Given the description of an element on the screen output the (x, y) to click on. 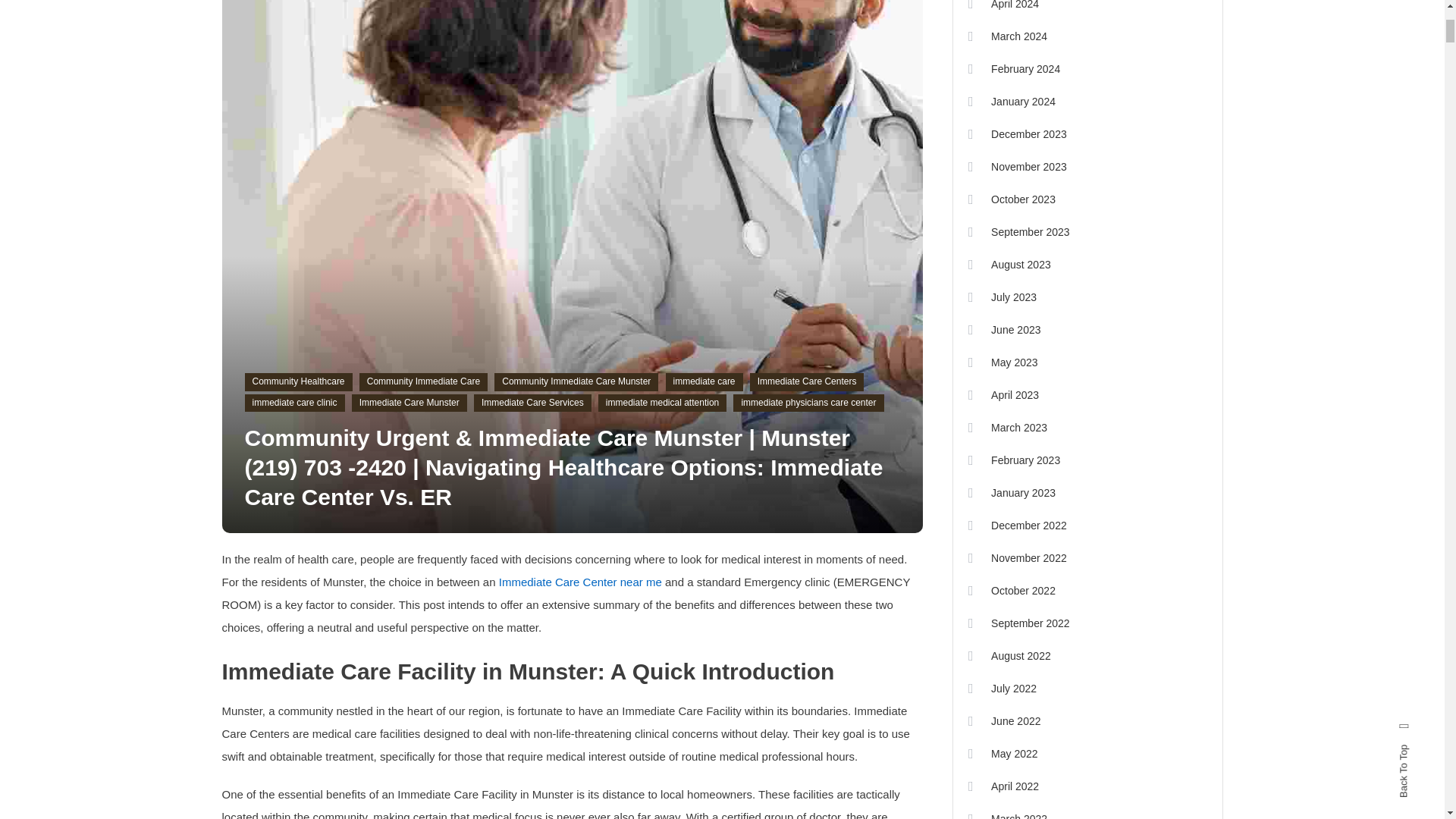
Community Immediate Care Munster (576, 382)
Community Healthcare (298, 382)
Community Immediate Care (423, 382)
